Given the description of an element on the screen output the (x, y) to click on. 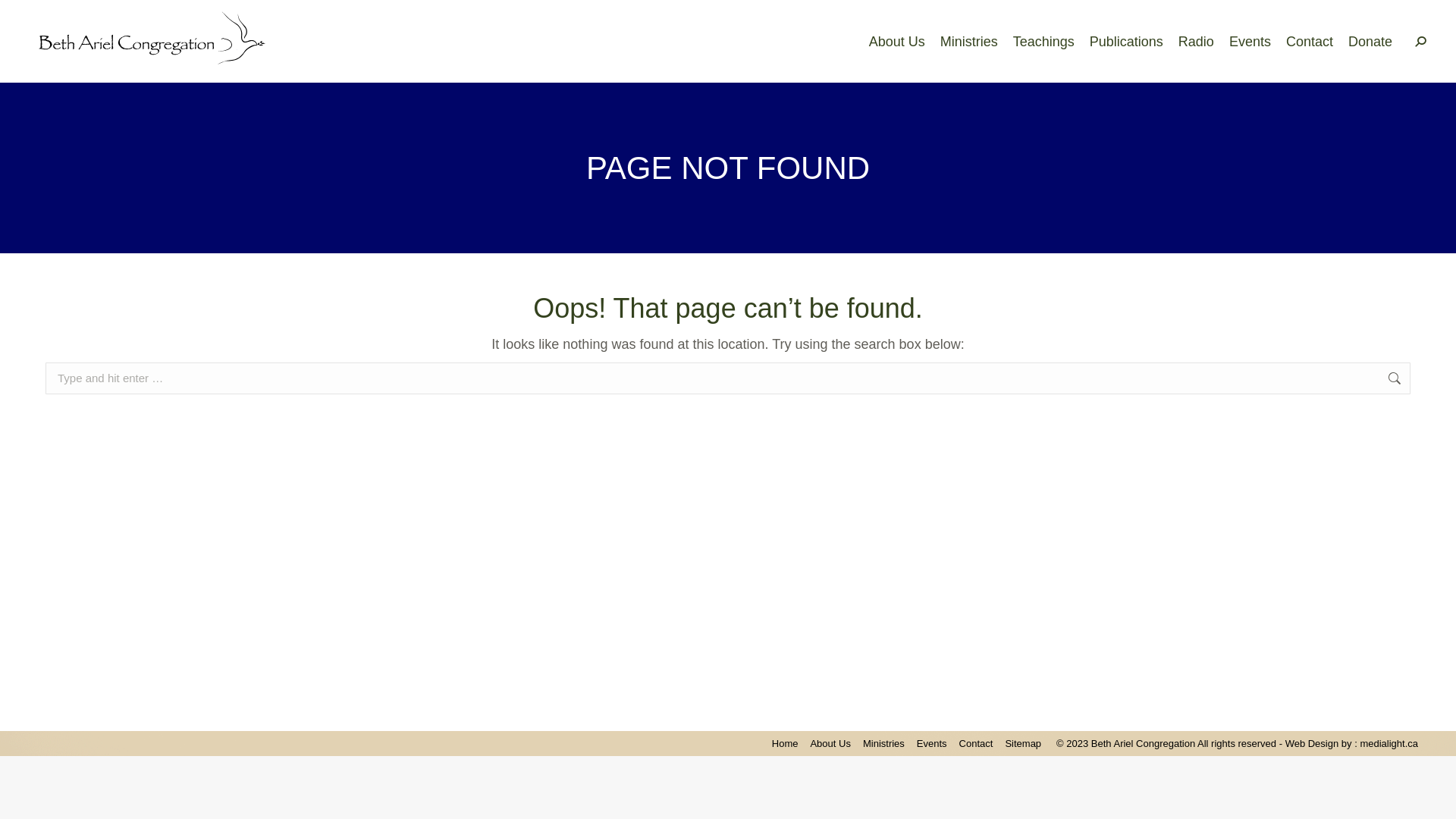
Contact Element type: text (1309, 41)
Ministries Element type: text (883, 743)
Teachings Element type: text (1043, 41)
About Us Element type: text (897, 41)
Go! Element type: text (27, 18)
Home Element type: text (784, 743)
Events Element type: text (1249, 41)
Radio Element type: text (1196, 41)
About Us Element type: text (829, 743)
Ministries Element type: text (968, 41)
Contact Element type: text (976, 743)
medialight.ca Element type: text (1388, 743)
Sitemap Element type: text (1022, 743)
Publications Element type: text (1126, 41)
Donate Element type: text (1370, 41)
Events Element type: text (931, 743)
